Given the description of an element on the screen output the (x, y) to click on. 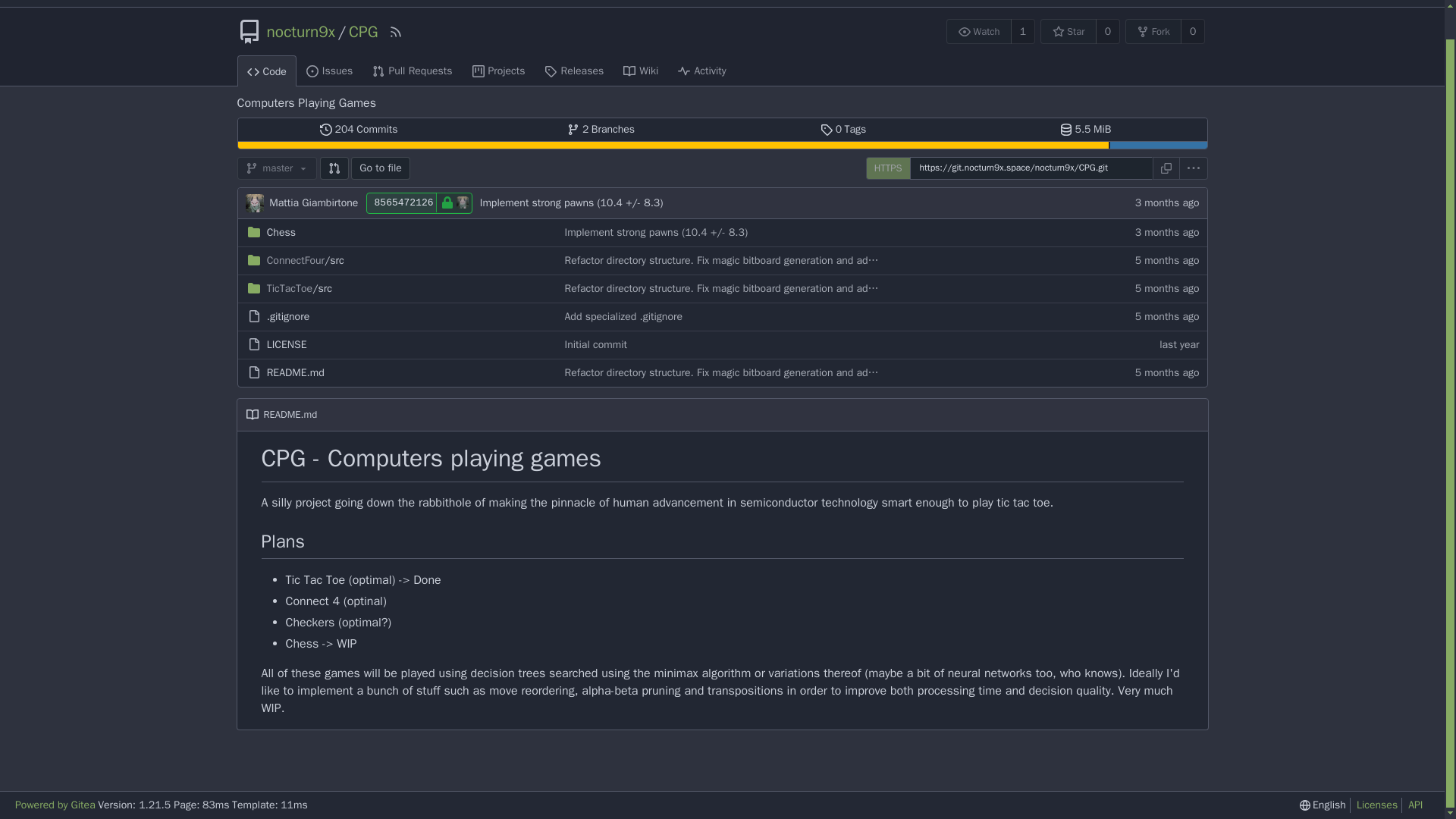
Mattia Giambirtone (313, 202)
Chess (280, 232)
Projects (499, 70)
Star (1068, 31)
Issues (329, 70)
Pull Requests (411, 70)
Activity (701, 70)
CPG (363, 31)
Go to file (380, 168)
HTTPS (888, 168)
